Given the description of an element on the screen output the (x, y) to click on. 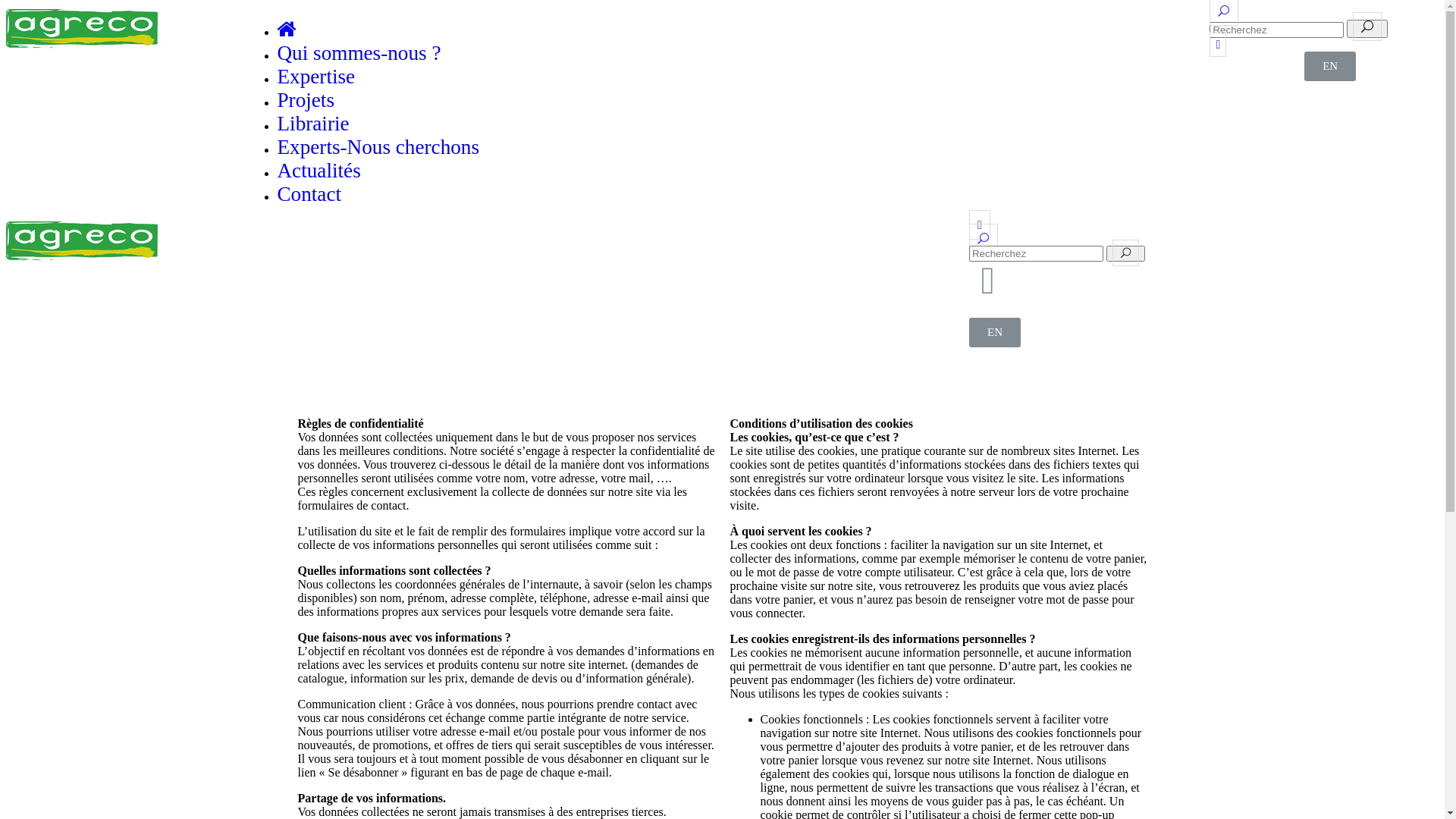
Librairie Element type: text (57, 268)
Expertise Element type: text (315, 76)
Linkedin Element type: hover (295, 173)
Projets Element type: text (305, 99)
Contact Element type: text (55, 309)
Contact Element type: text (308, 193)
Projets Element type: text (52, 254)
Qui sommes-nous ? Element type: text (84, 227)
EN Element type: text (994, 332)
Experts-Nous cherchons Element type: text (95, 282)
Expertise Element type: text (58, 241)
Experts-Nous cherchons Element type: text (377, 146)
Qui sommes-nous ? Element type: text (358, 52)
EN Element type: text (1329, 66)
Librairie Element type: text (312, 123)
